Given the description of an element on the screen output the (x, y) to click on. 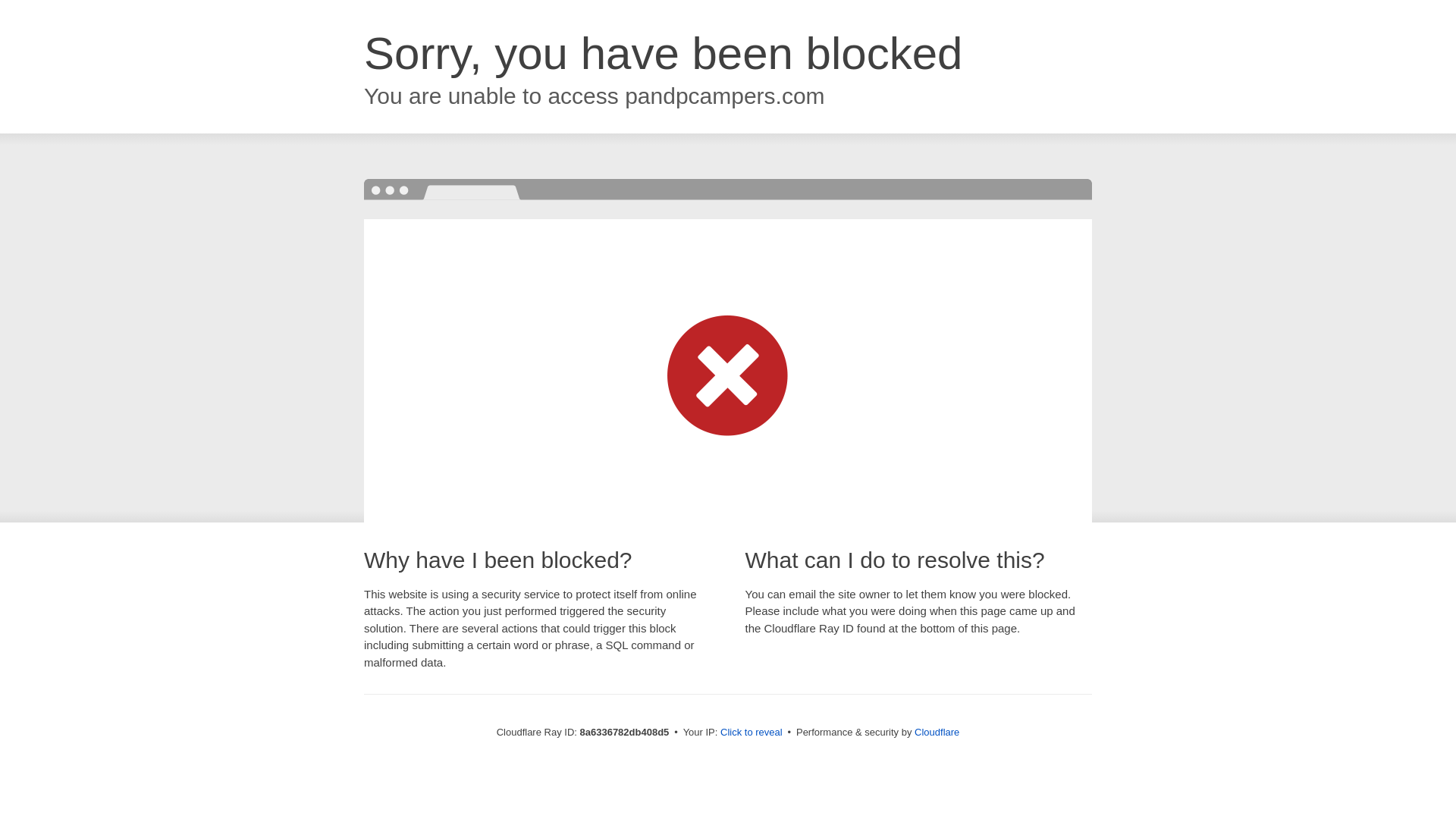
Cloudflare (936, 731)
Click to reveal (751, 732)
